Given the description of an element on the screen output the (x, y) to click on. 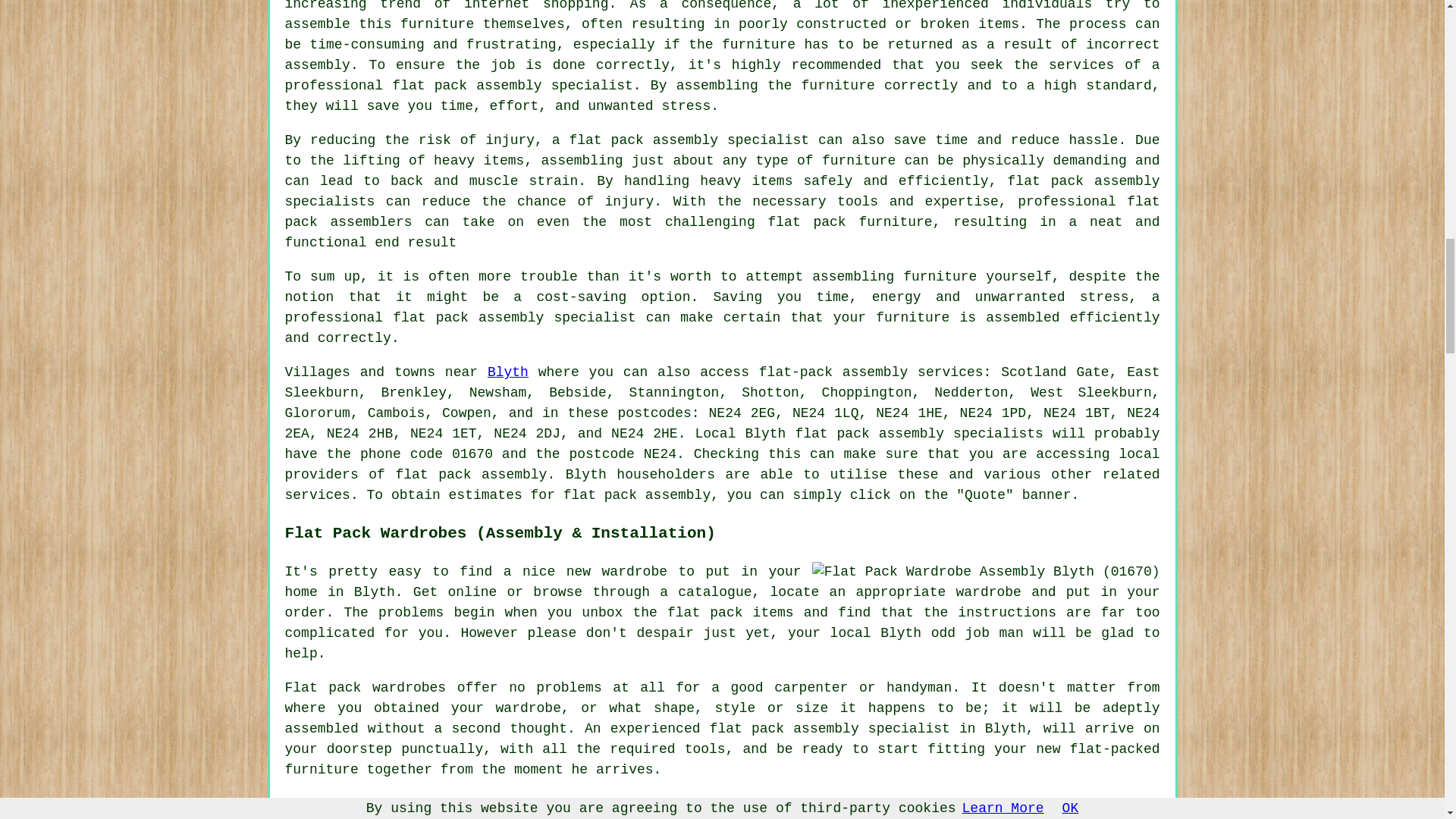
your furniture is assembled (945, 317)
flat pack assembly (470, 474)
flat pack assembly specialists (918, 433)
